Given the description of an element on the screen output the (x, y) to click on. 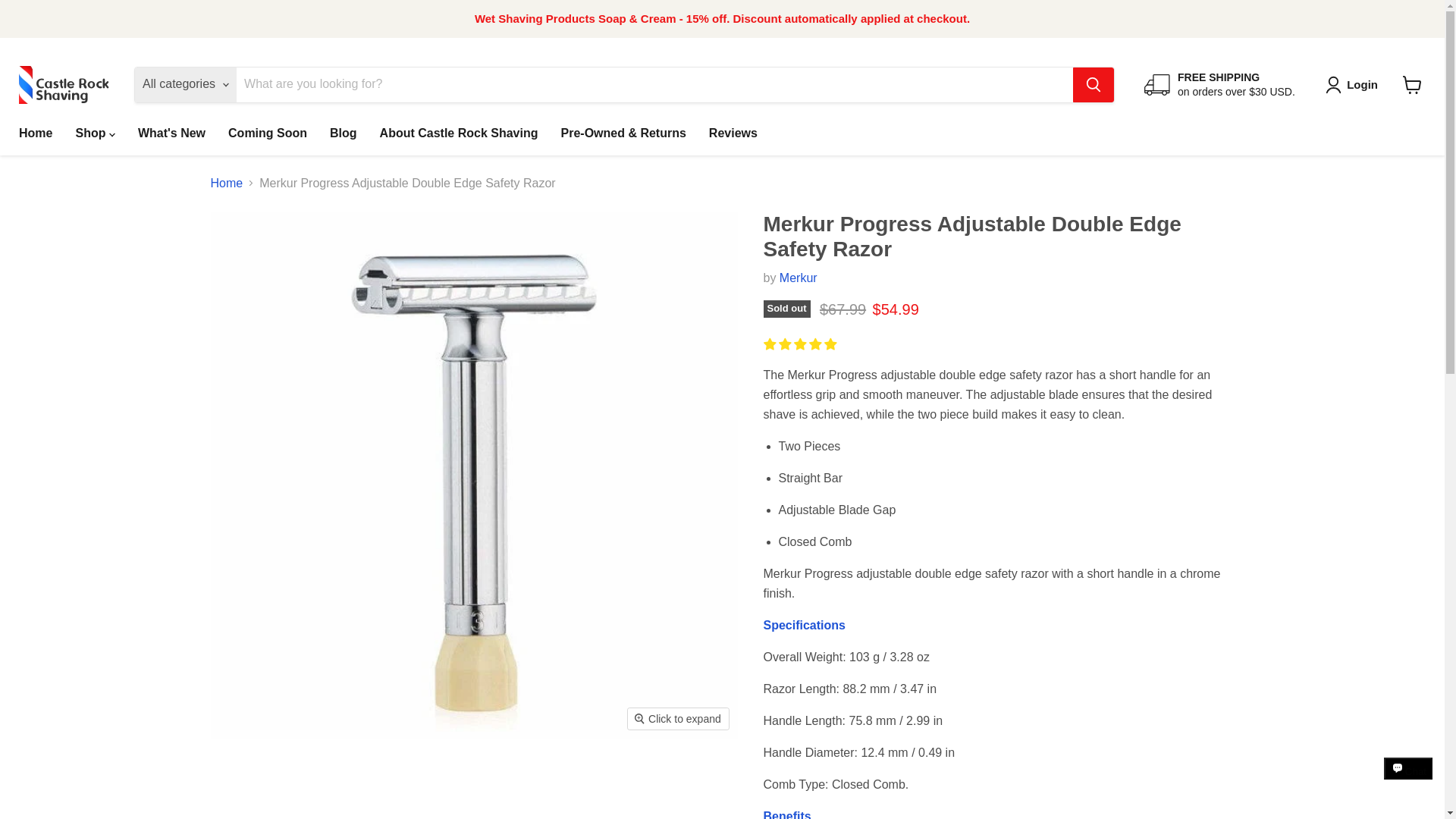
Home (35, 132)
Shopify online store chat (1408, 781)
Login (1354, 85)
View cart (1411, 84)
Merkur (797, 277)
